Given the description of an element on the screen output the (x, y) to click on. 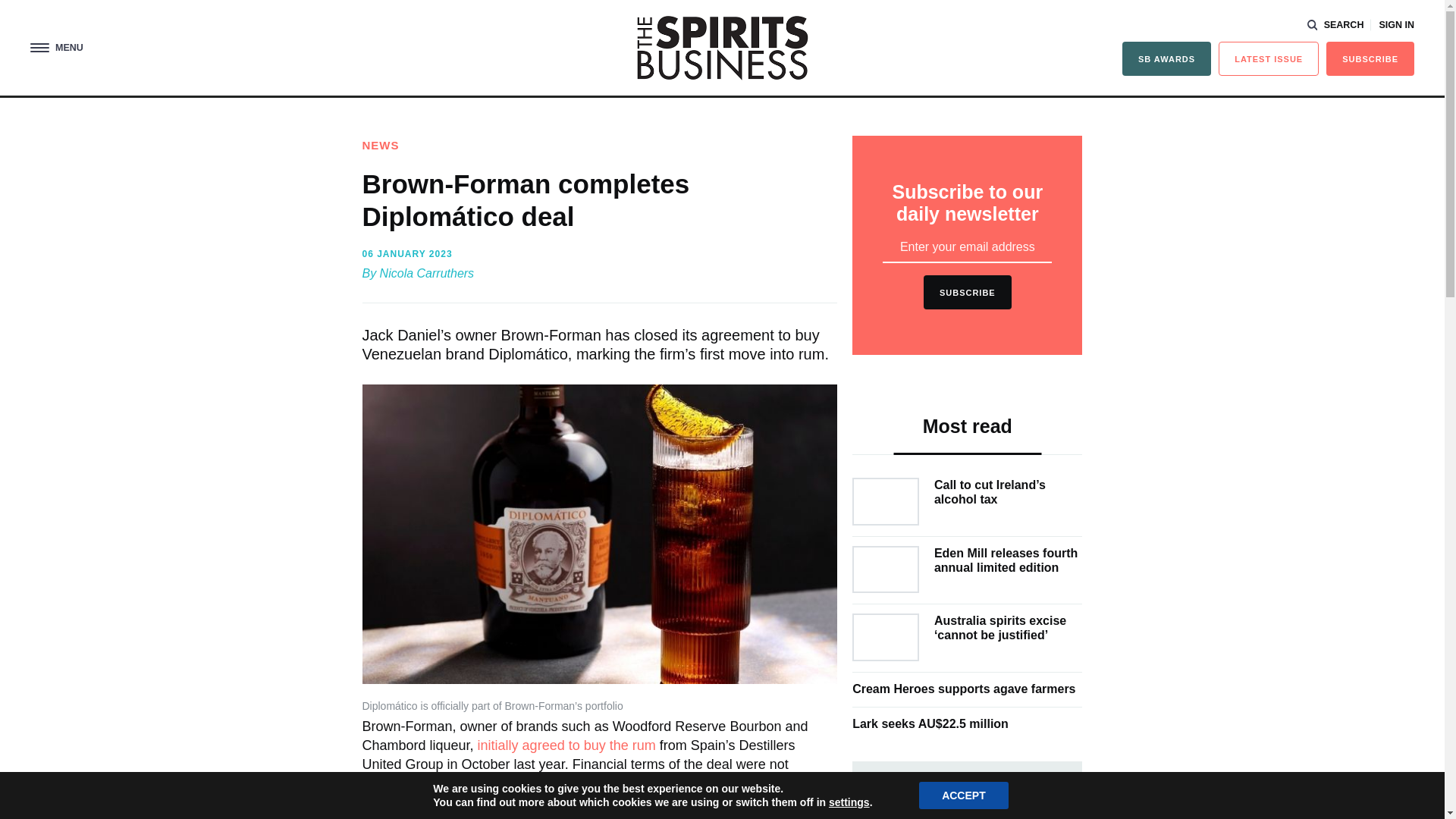
The Spirits Business (722, 47)
SUBSCRIBE (1369, 58)
SB AWARDS (1166, 58)
LATEST ISSUE (1268, 58)
SIGN IN (1395, 25)
